Given the description of an element on the screen output the (x, y) to click on. 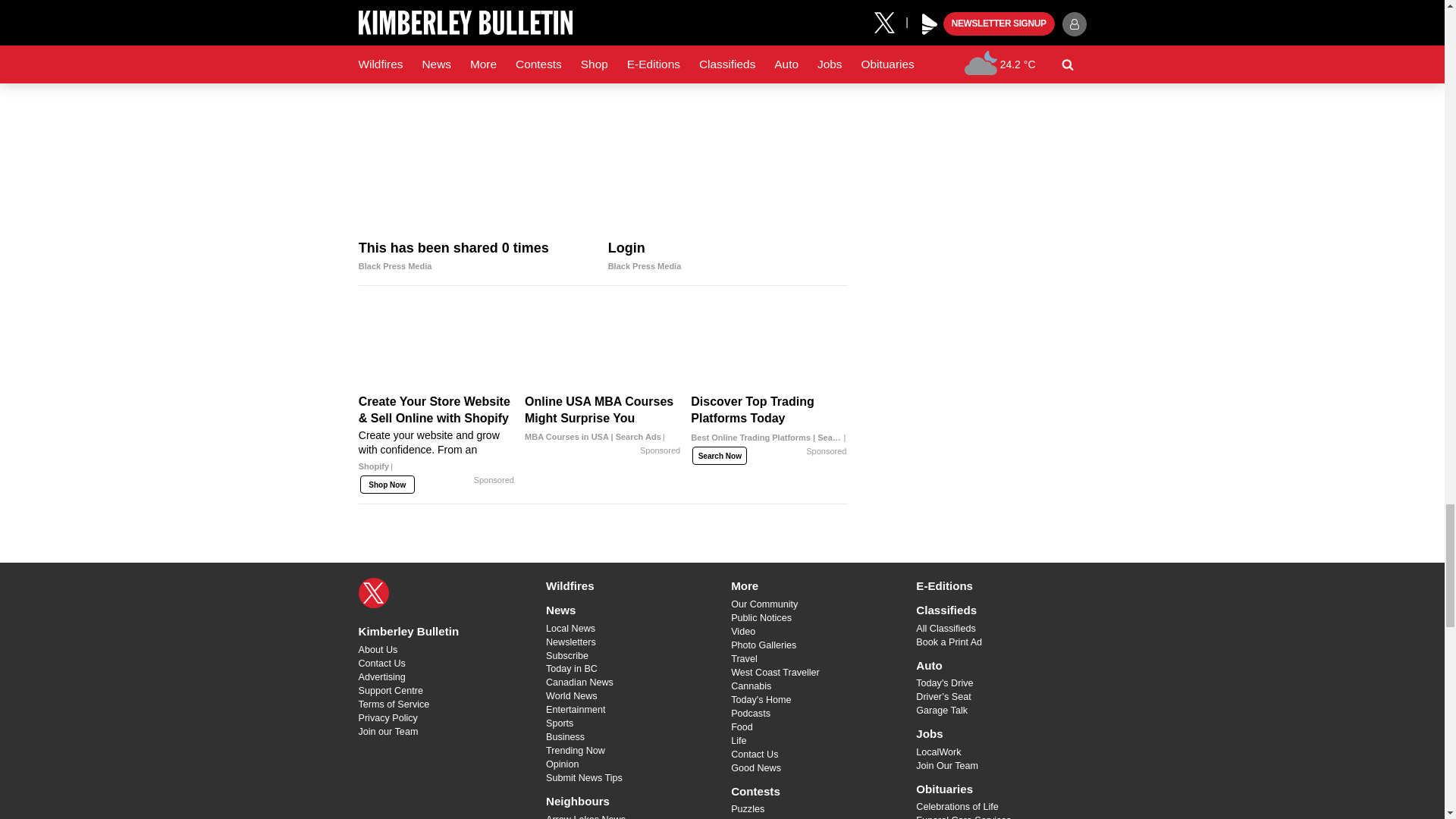
Login (727, 167)
This has been shared 0 times (478, 257)
This has been shared 0 times (478, 167)
Online USA MBA Courses Might Surprise You (602, 419)
Login (727, 257)
Online USA MBA Courses Might Surprise You (602, 345)
